Given the description of an element on the screen output the (x, y) to click on. 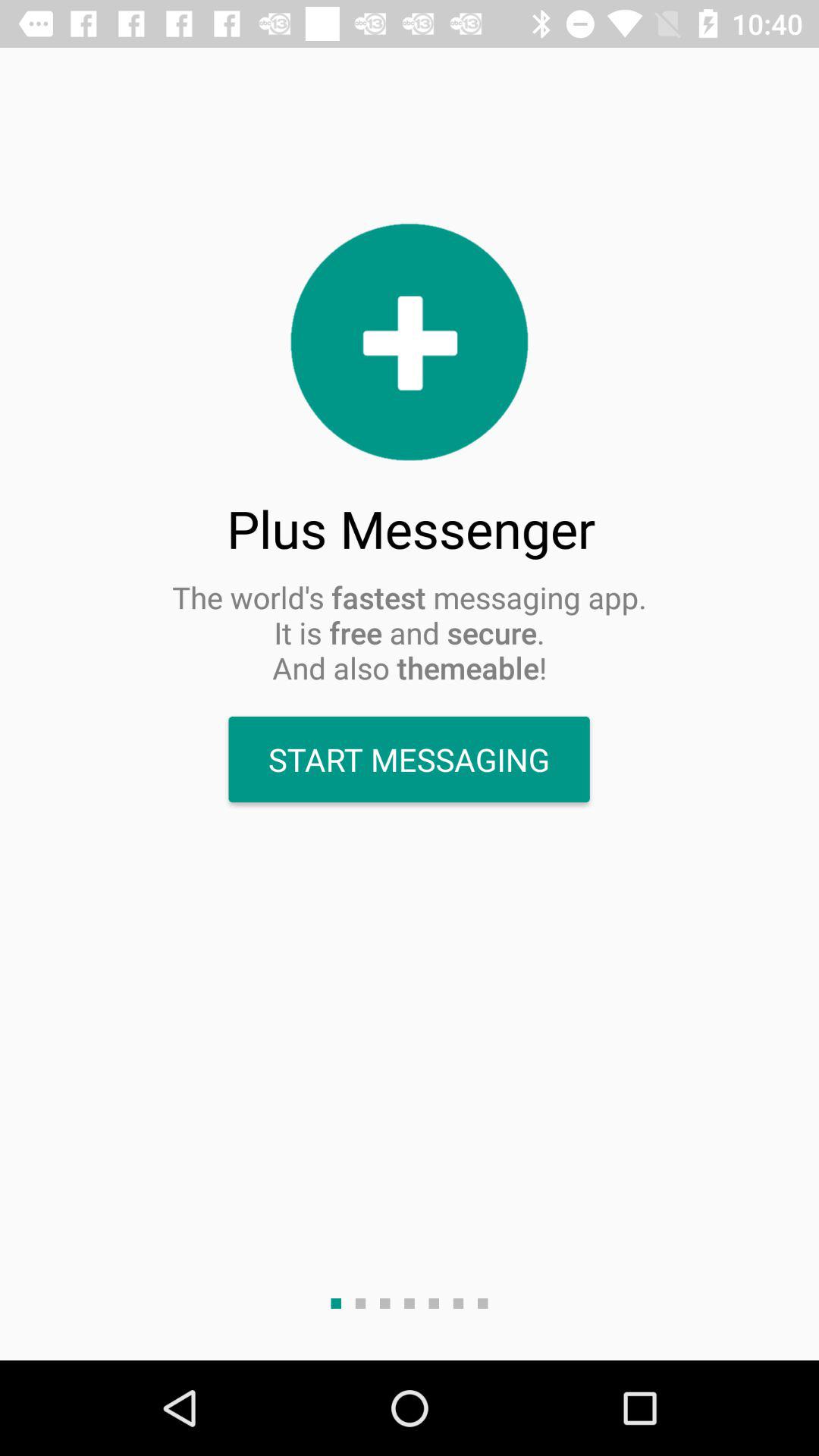
launch the item below the world s icon (408, 759)
